Given the description of an element on the screen output the (x, y) to click on. 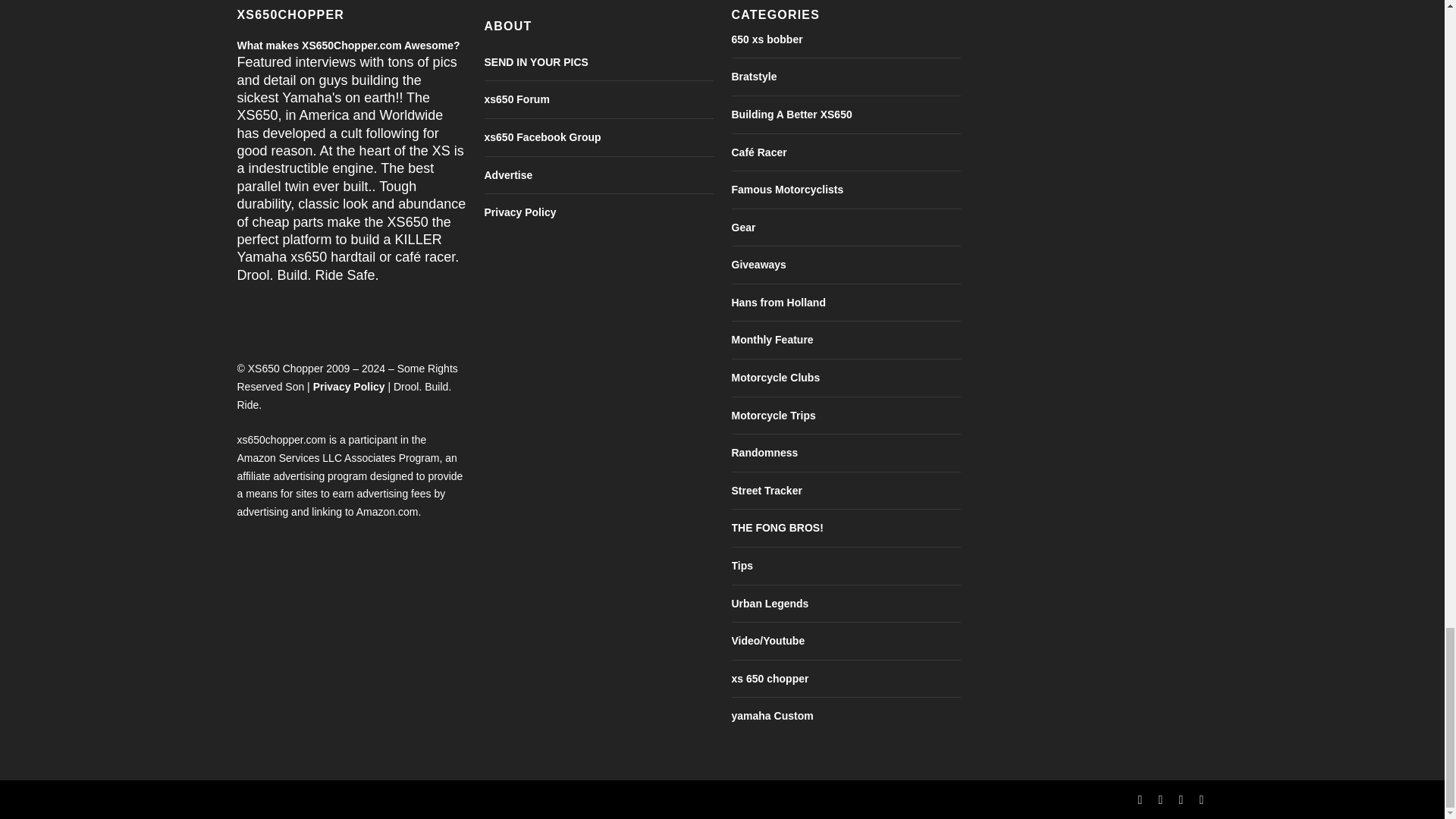
Premium WordPress Themes (336, 799)
